Given the description of an element on the screen output the (x, y) to click on. 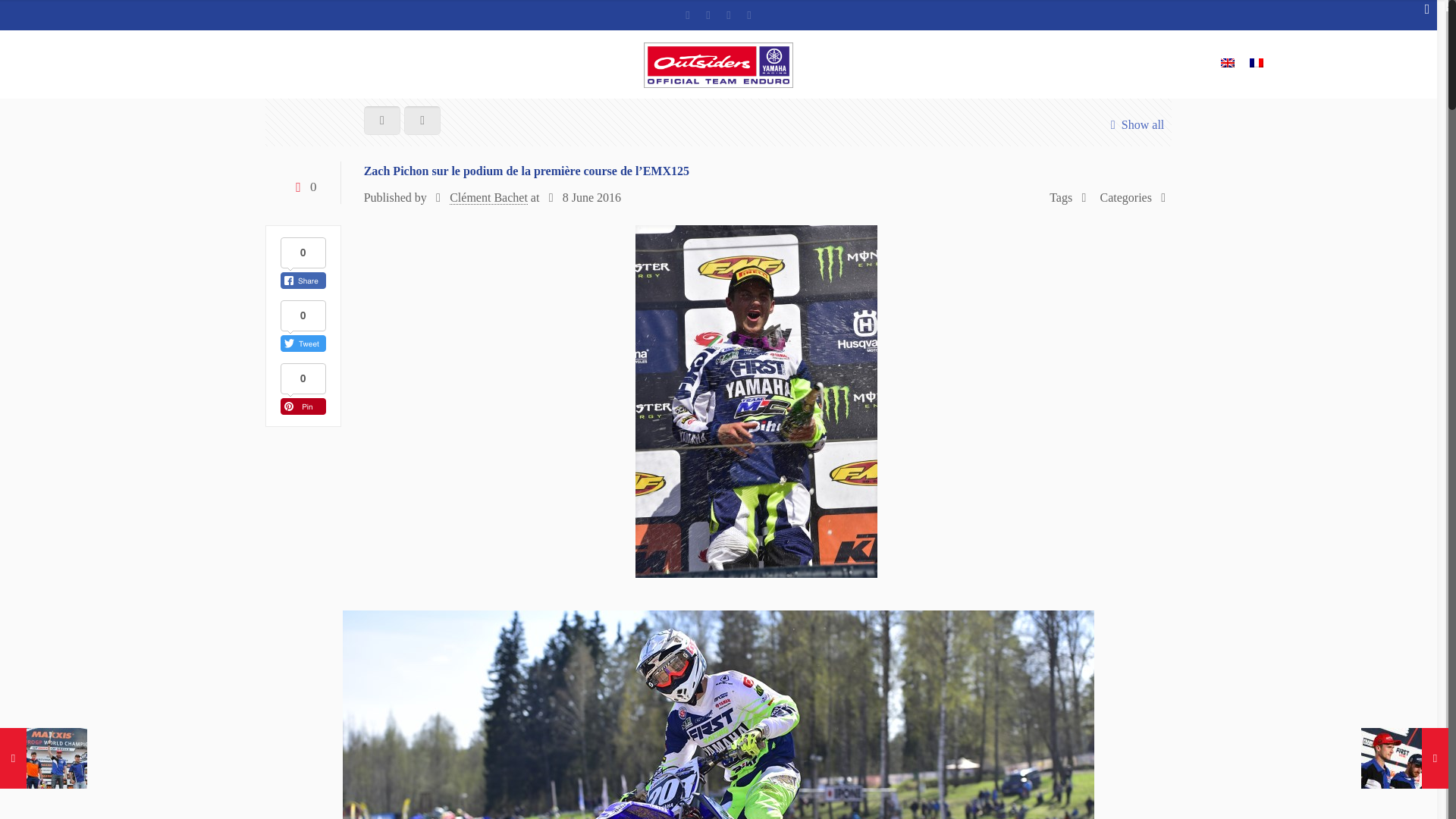
Facebook (687, 15)
Show all (1133, 124)
English (1227, 62)
Outsiders Yamaha Racing (719, 64)
THE PILOTS (280, 64)
Instagram (749, 15)
Twitter (708, 15)
YouTube (728, 15)
THE TEAM (201, 64)
0 (302, 186)
PARTNERS (360, 64)
